Given the description of an element on the screen output the (x, y) to click on. 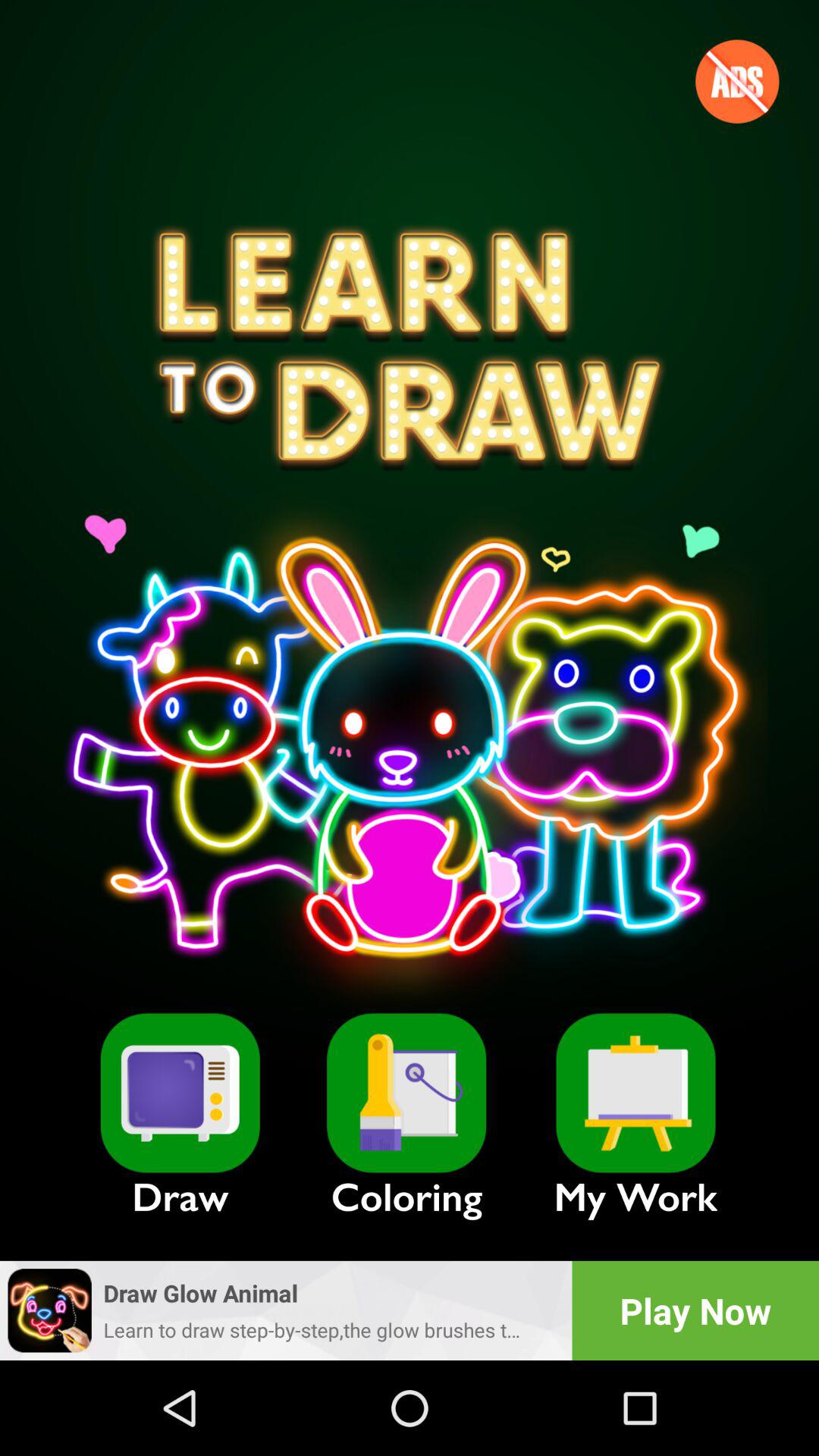
turn off icon above the coloring item (406, 1092)
